Given the description of an element on the screen output the (x, y) to click on. 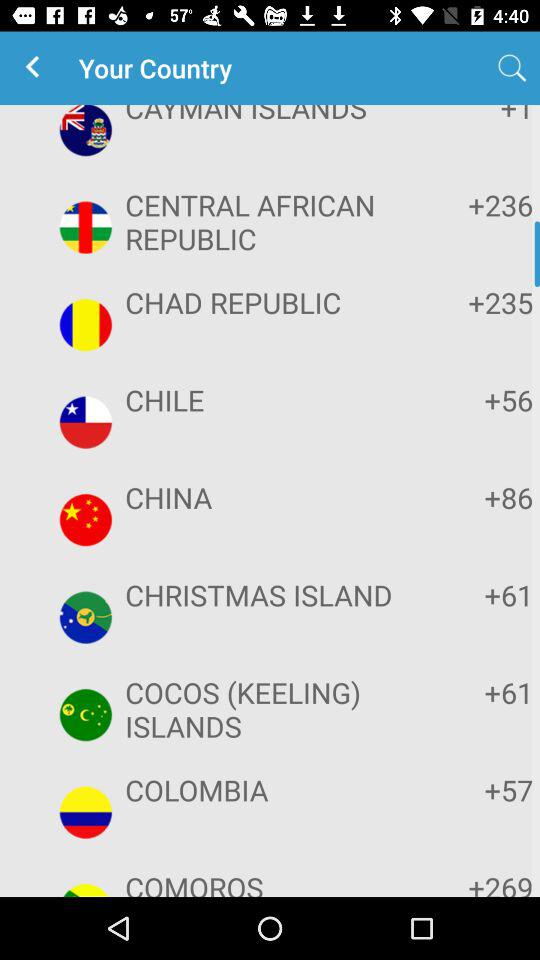
swipe until the cayman islands app (267, 115)
